Given the description of an element on the screen output the (x, y) to click on. 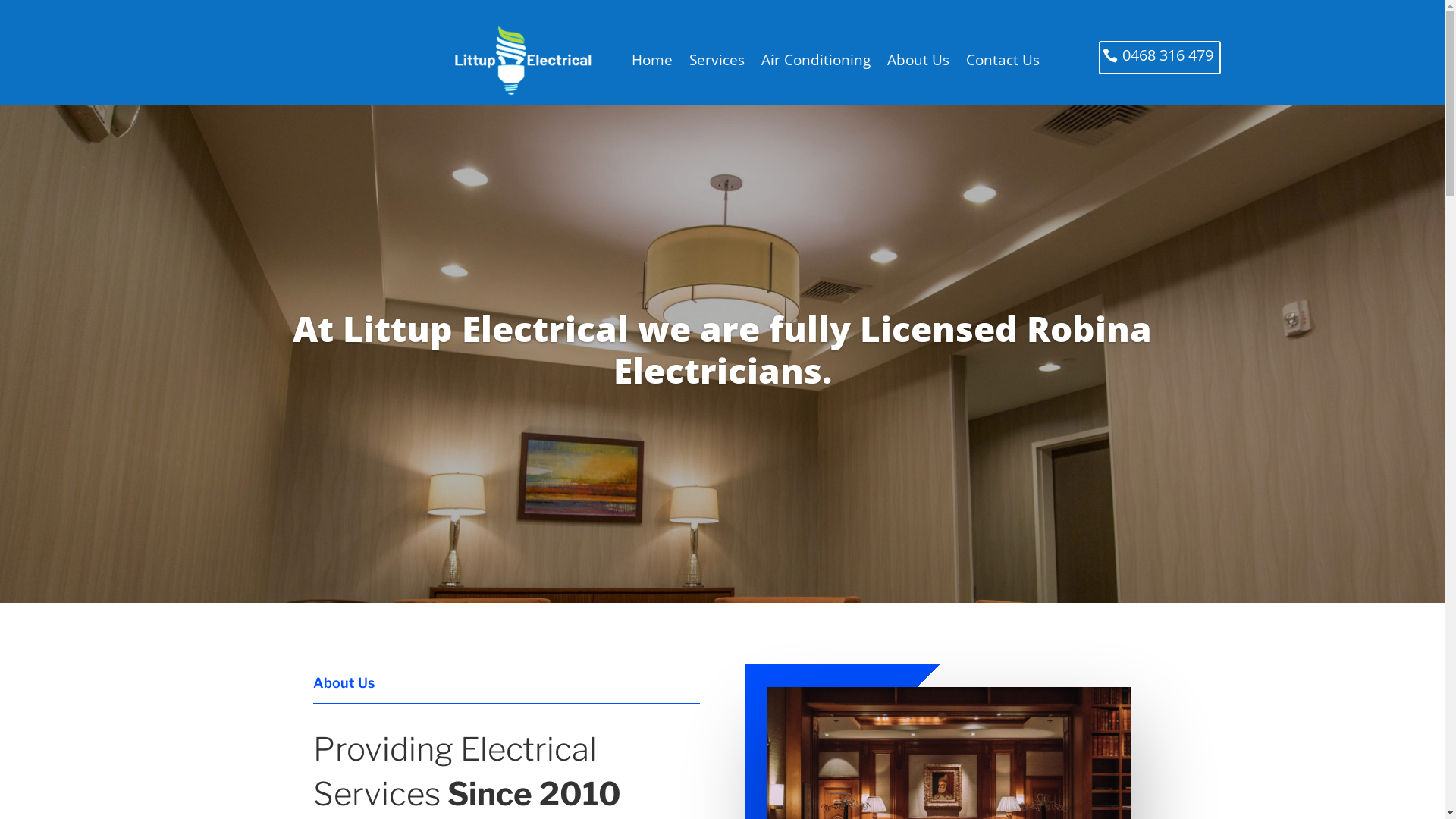
About Us Element type: text (918, 59)
Contact Us Element type: text (1002, 59)
Services Element type: text (716, 59)
0468 316 479 Element type: text (1159, 57)
Home Element type: text (651, 59)
Air Conditioning Element type: text (815, 59)
